Given the description of an element on the screen output the (x, y) to click on. 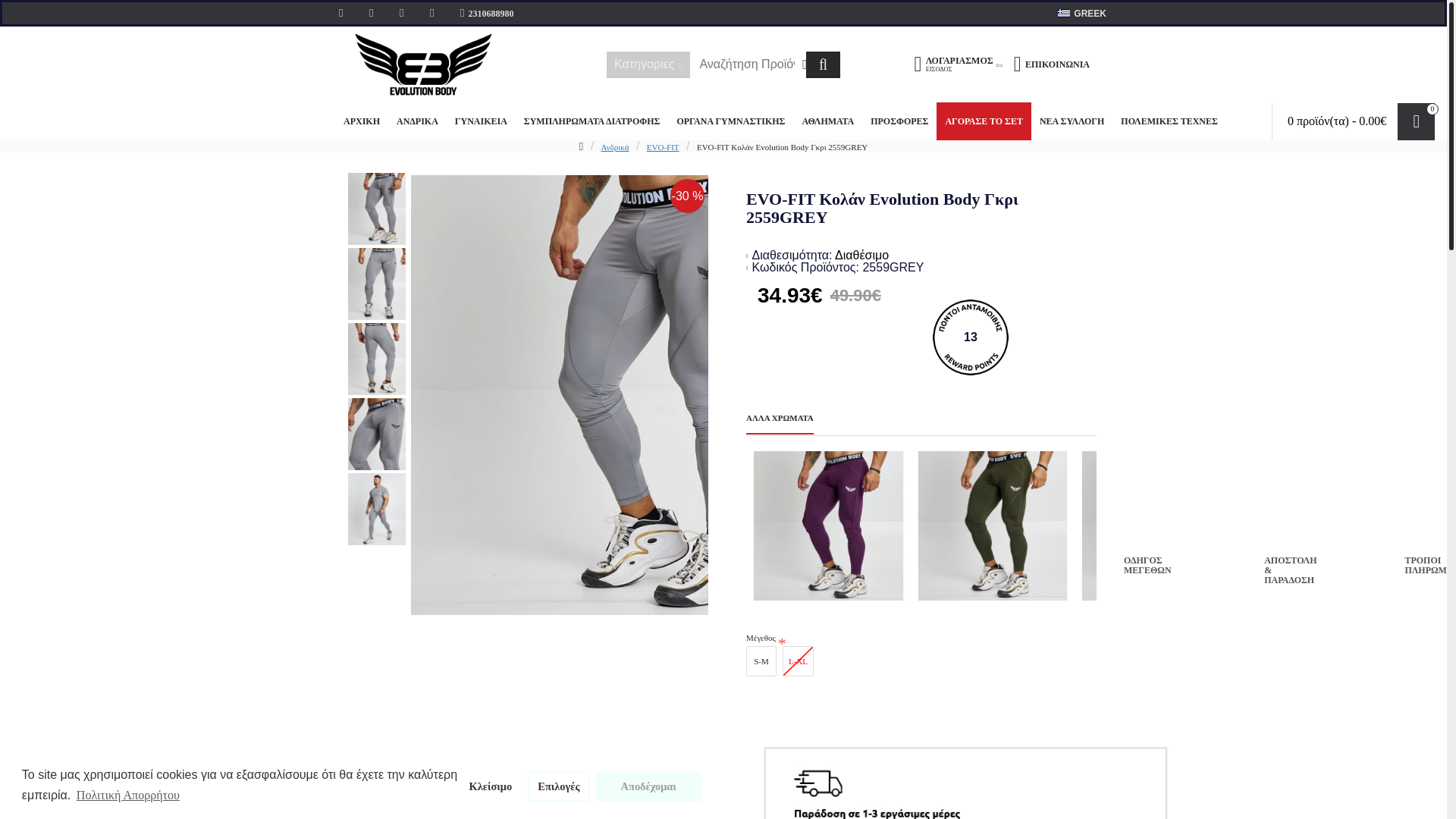
Greek (1064, 13)
Evolution Body (423, 64)
